Given the description of an element on the screen output the (x, y) to click on. 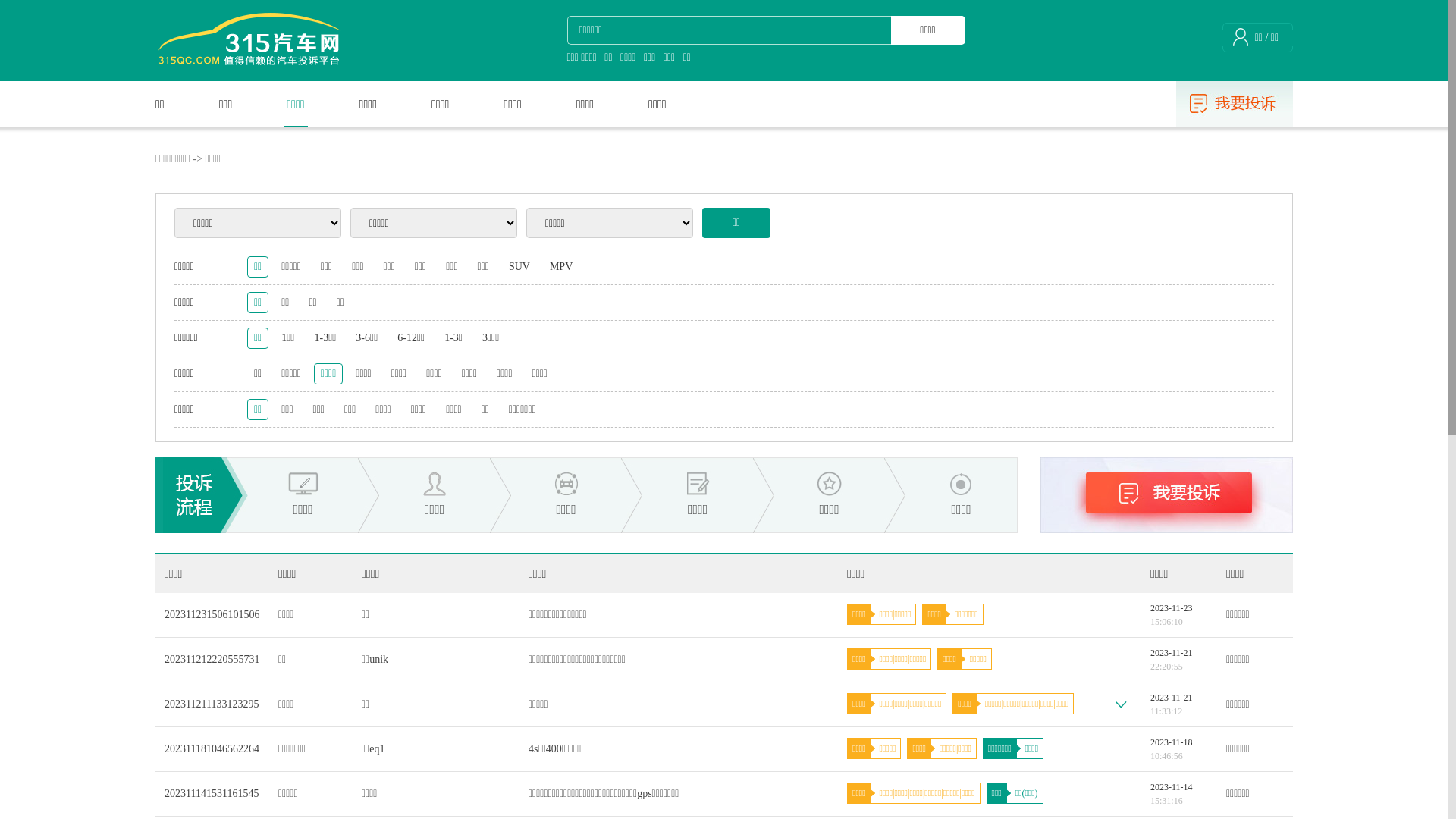
SUV Element type: text (519, 266)
MPV Element type: text (560, 266)
